Given the description of an element on the screen output the (x, y) to click on. 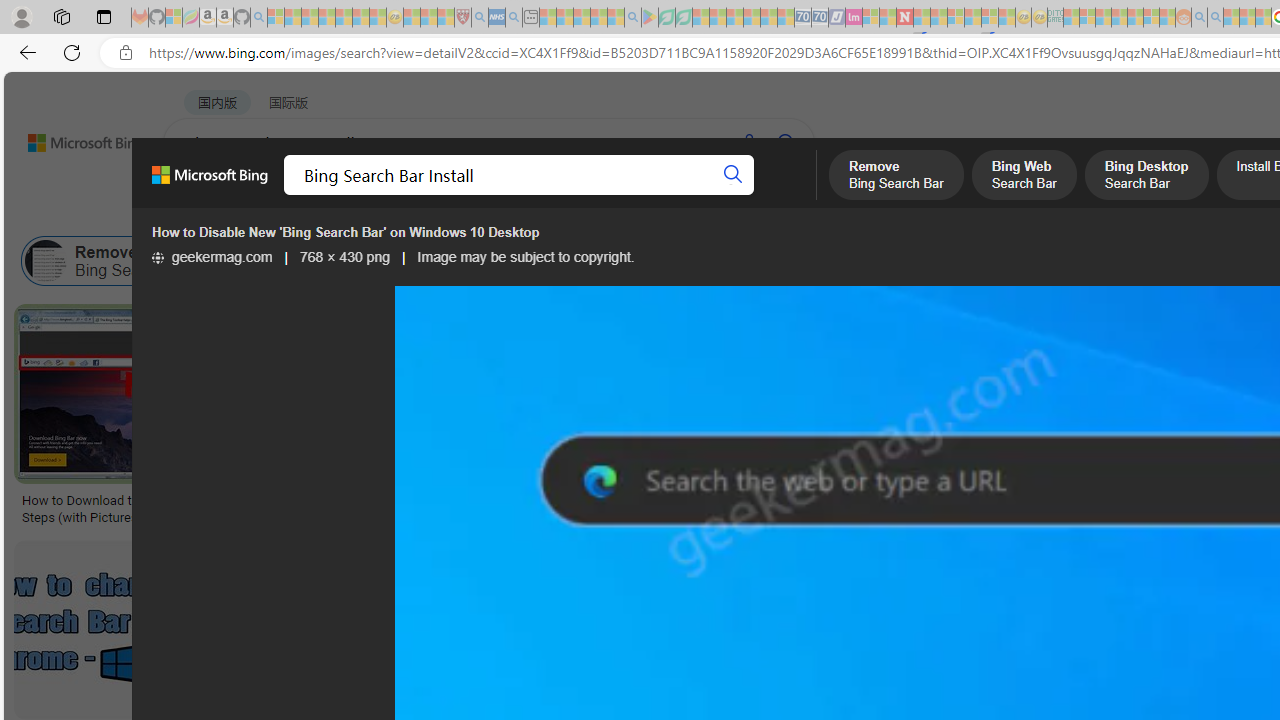
DICT (717, 195)
WEB (201, 195)
